Given the description of an element on the screen output the (x, y) to click on. 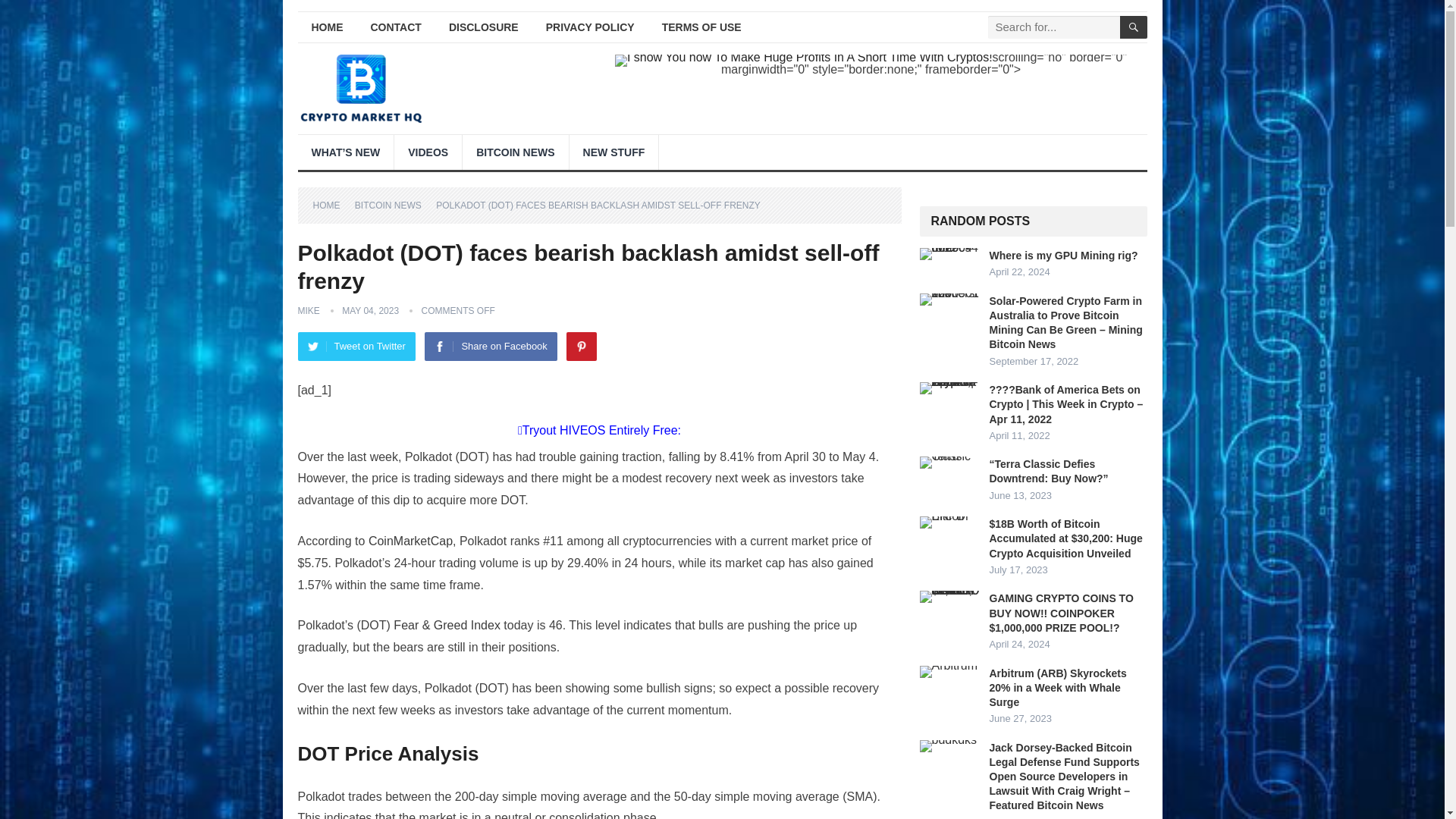
Where is my GPU Mining rig? 15 (948, 254)
BITCOIN NEWS (393, 204)
VIDEOS (427, 152)
NEW STUFF (614, 152)
TERMS OF USE (701, 27)
CONTACT (394, 27)
CoinMarketCap (410, 540)
Tweet on Twitter (355, 346)
MIKE (307, 310)
DISCLOSURE (483, 27)
View all posts in Bitcoin News (393, 204)
Pinterest (581, 346)
Share on Facebook (490, 346)
PRIVACY POLICY (589, 27)
